Given the description of an element on the screen output the (x, y) to click on. 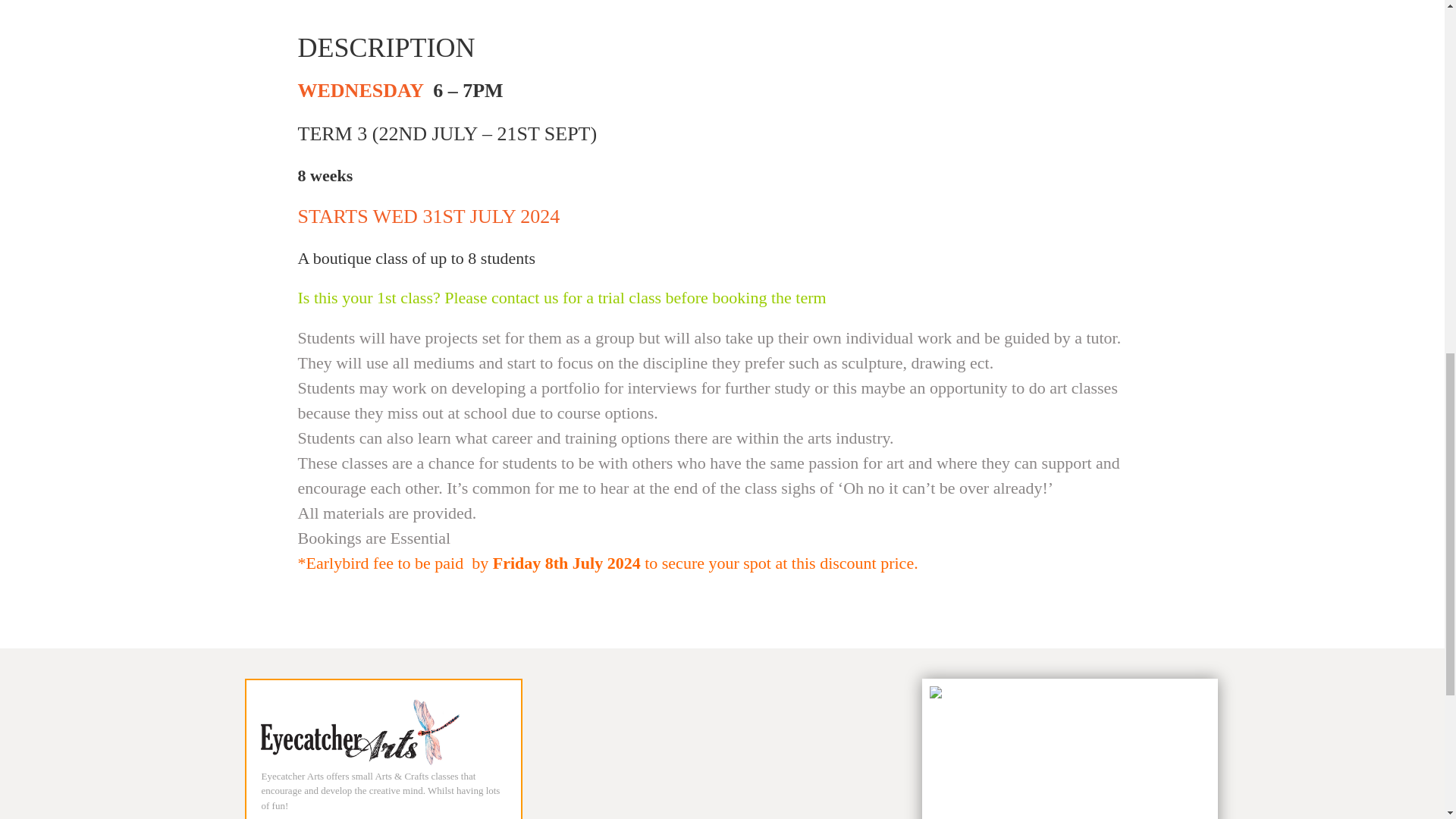
Scroll back to top (1403, 716)
